Given the description of an element on the screen output the (x, y) to click on. 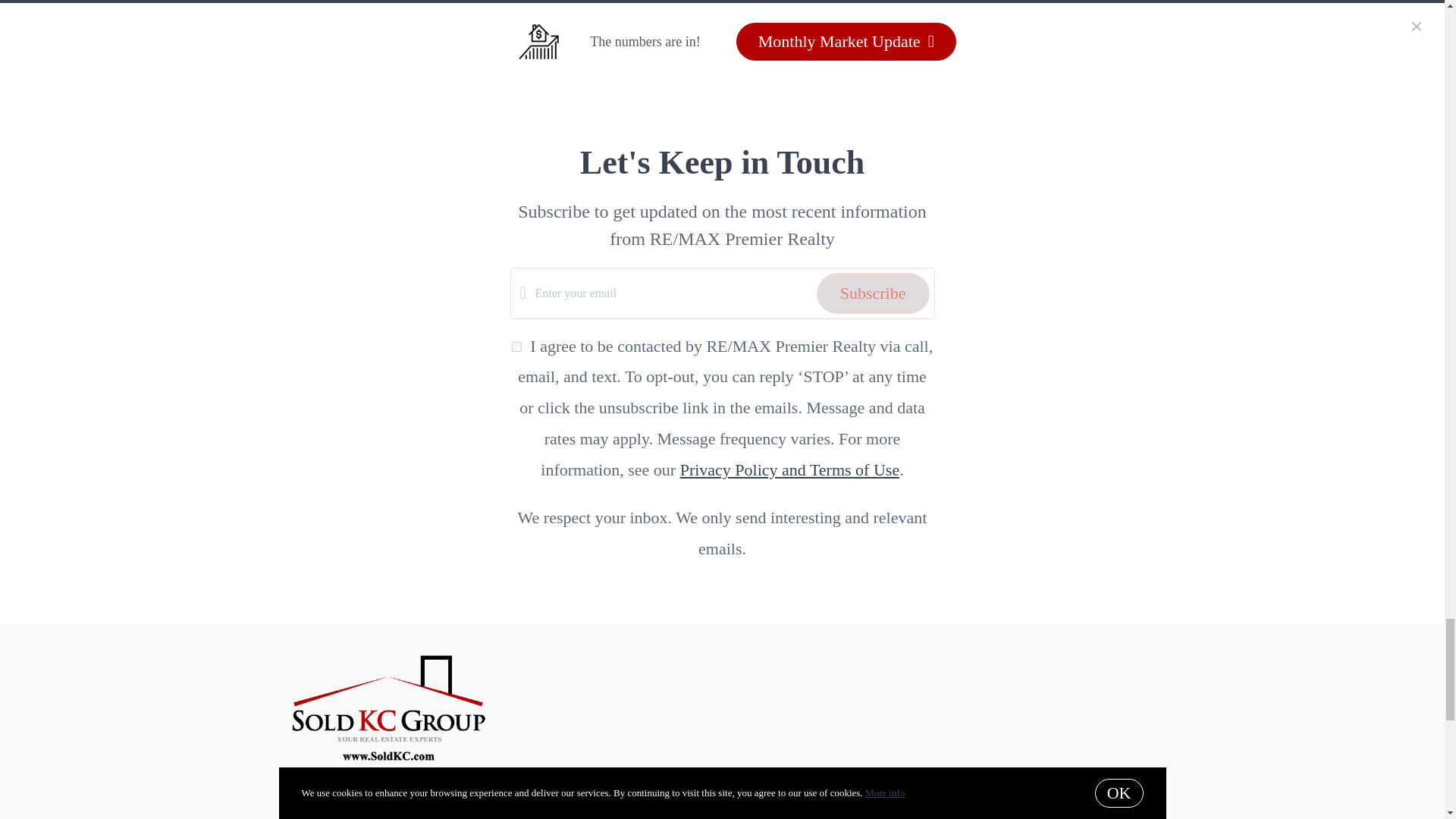
on (516, 347)
